Given the description of an element on the screen output the (x, y) to click on. 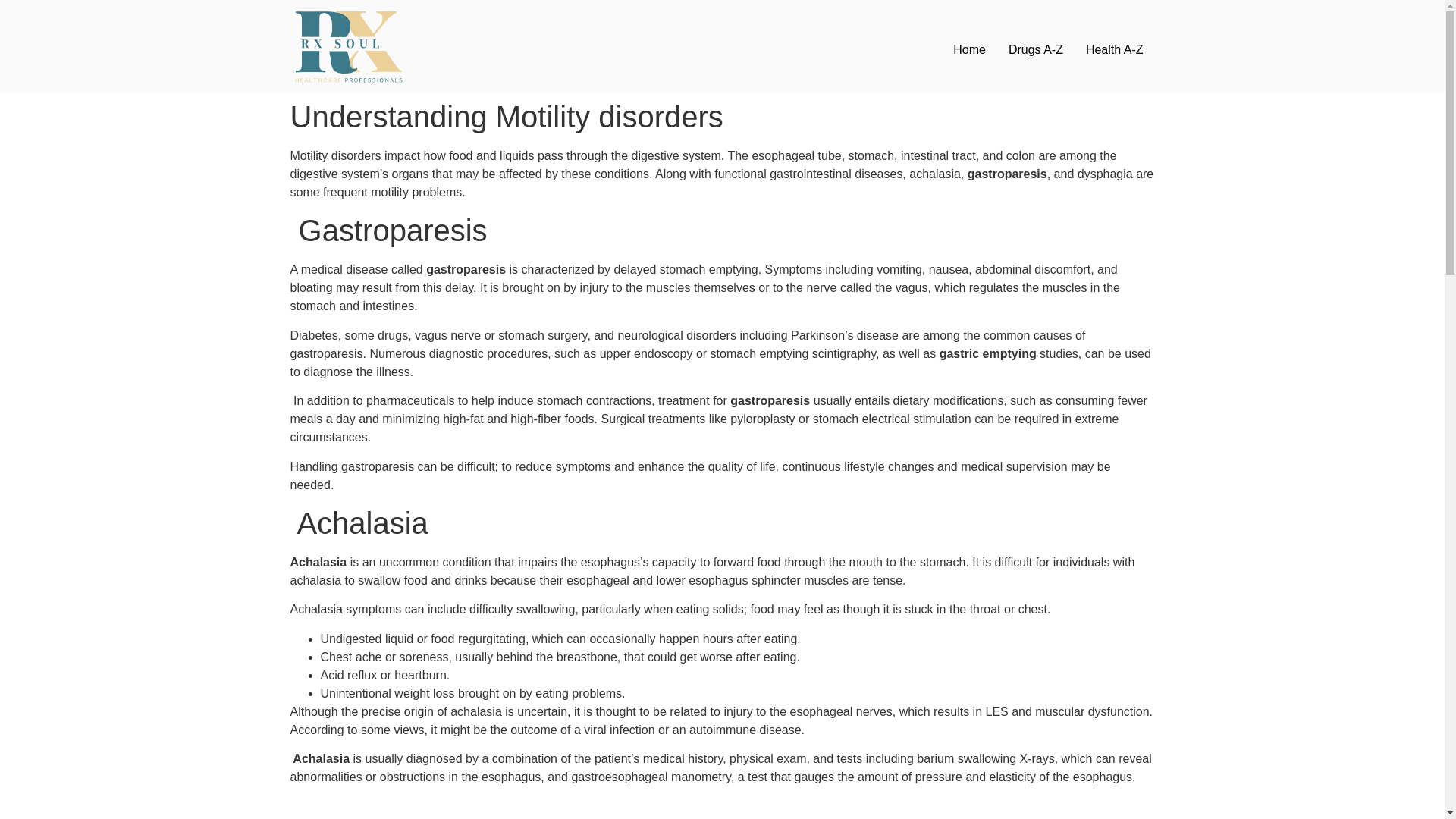
Health A-Z (1114, 50)
Home (969, 50)
Drugs A-Z (1035, 50)
